Given the description of an element on the screen output the (x, y) to click on. 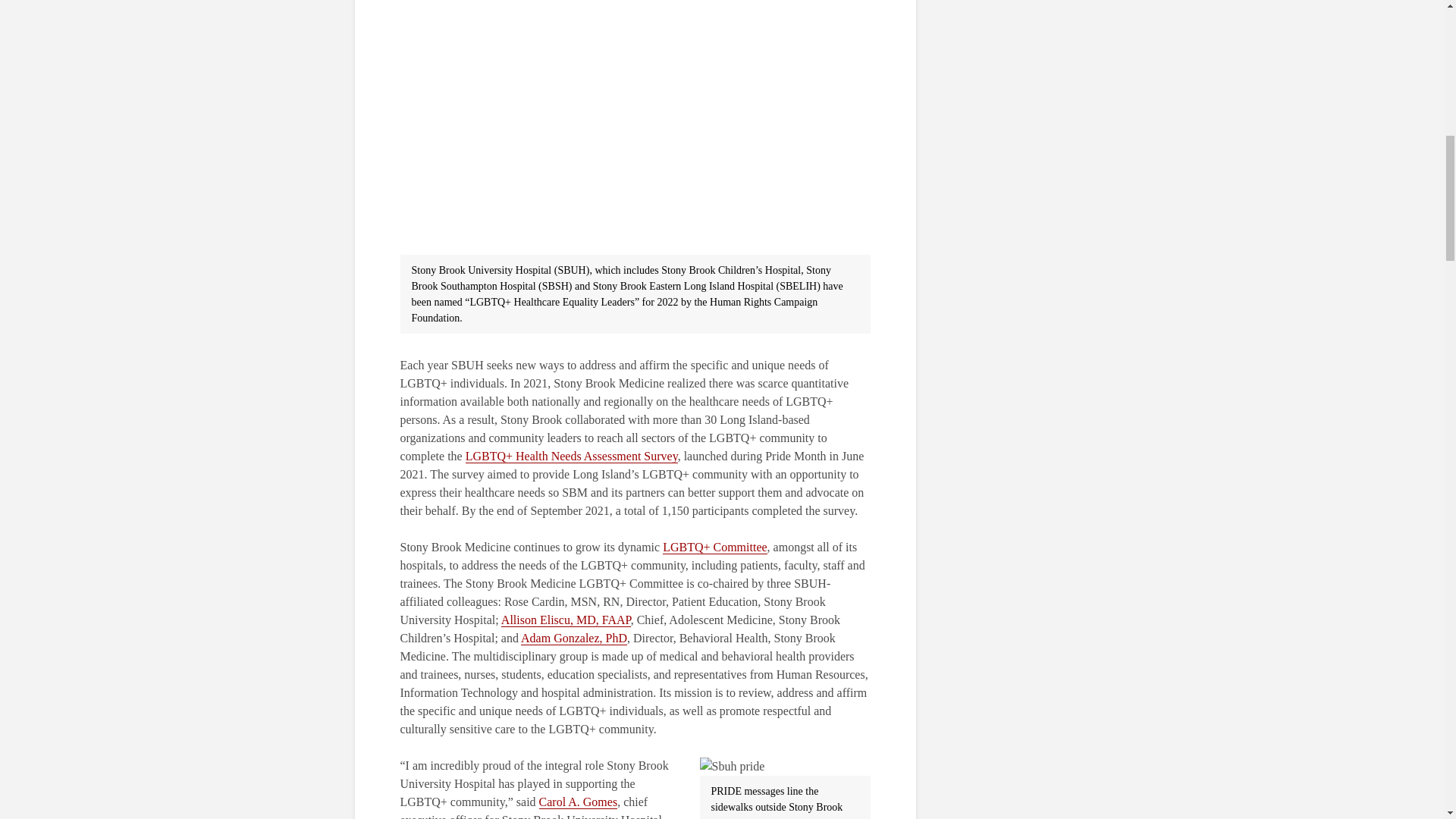
Sbuh pride (731, 766)
2022 hei leader (635, 127)
